Given the description of an element on the screen output the (x, y) to click on. 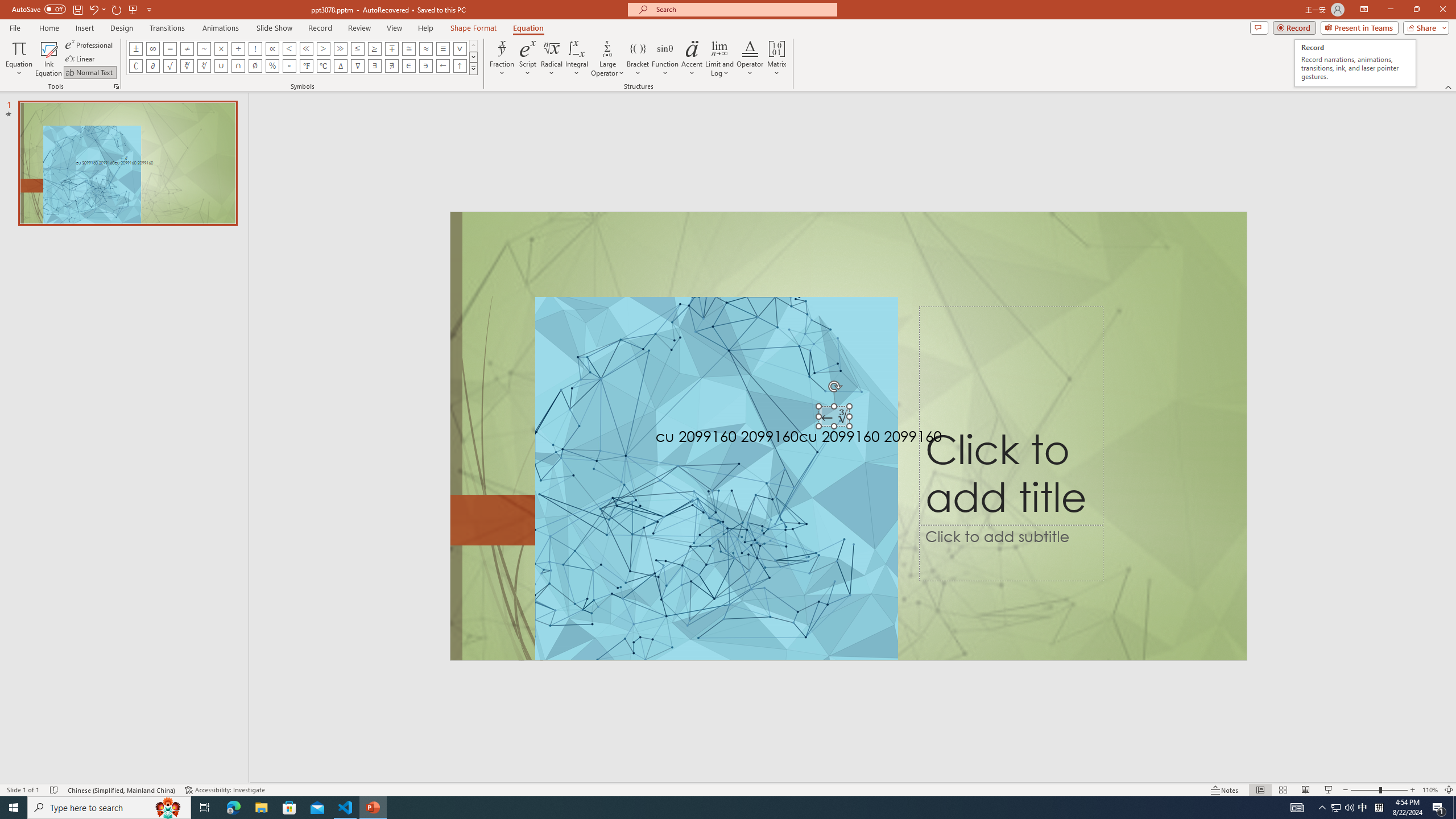
Equation Symbol Radical Sign (170, 65)
Equation Symbol There Exists (374, 65)
Large Operator (607, 58)
Equation Symbol Increment (340, 65)
Limit and Log (719, 58)
Equation Symbol Degrees Celsius (322, 65)
Equation Symbol Degrees Fahrenheit (306, 65)
Equation Symbol Partial Differential (152, 65)
